Given the description of an element on the screen output the (x, y) to click on. 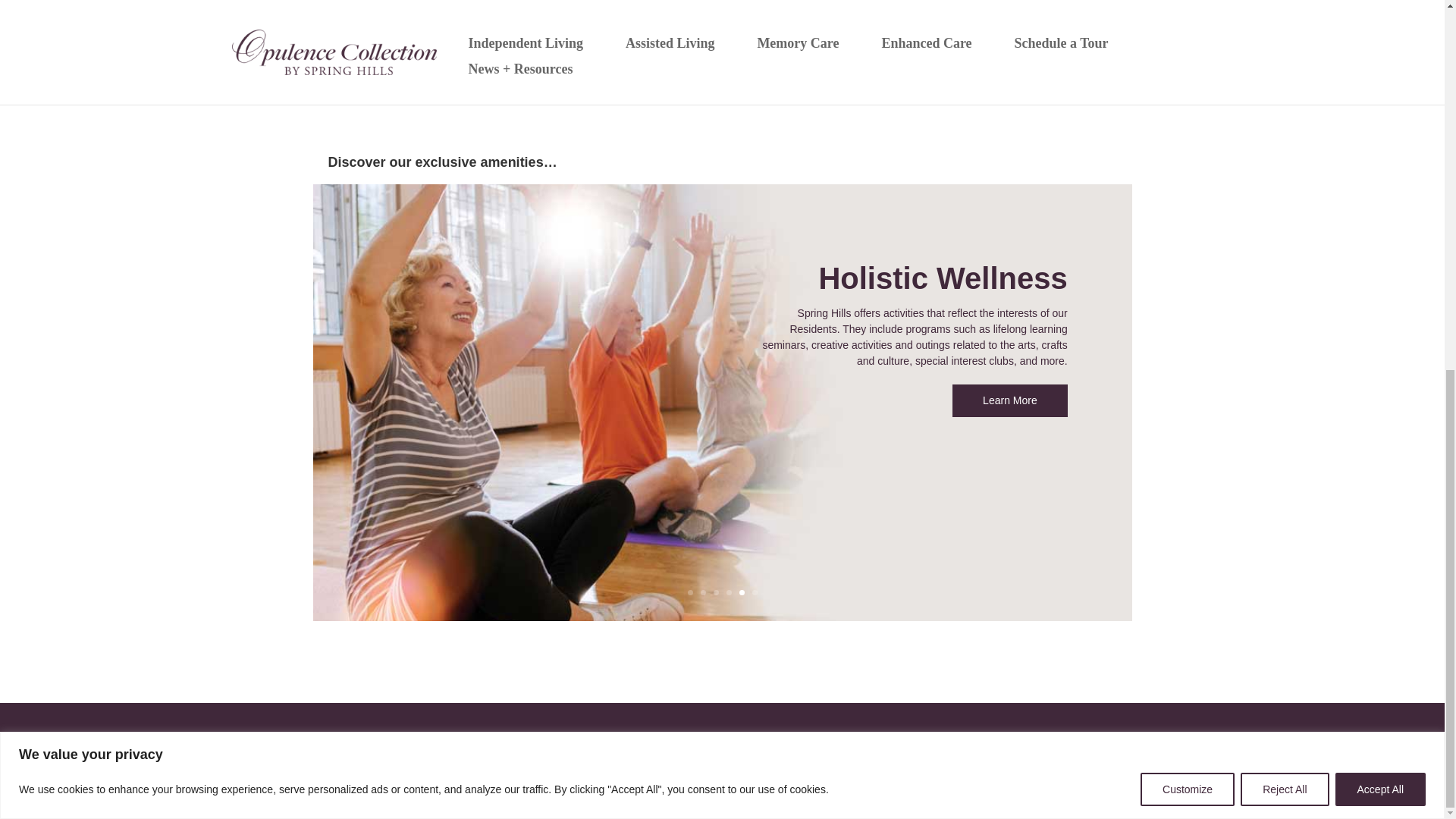
Accept All (1380, 118)
Holistic Wellness (942, 285)
Customize (1187, 118)
Reject All (1283, 118)
